Given the description of an element on the screen output the (x, y) to click on. 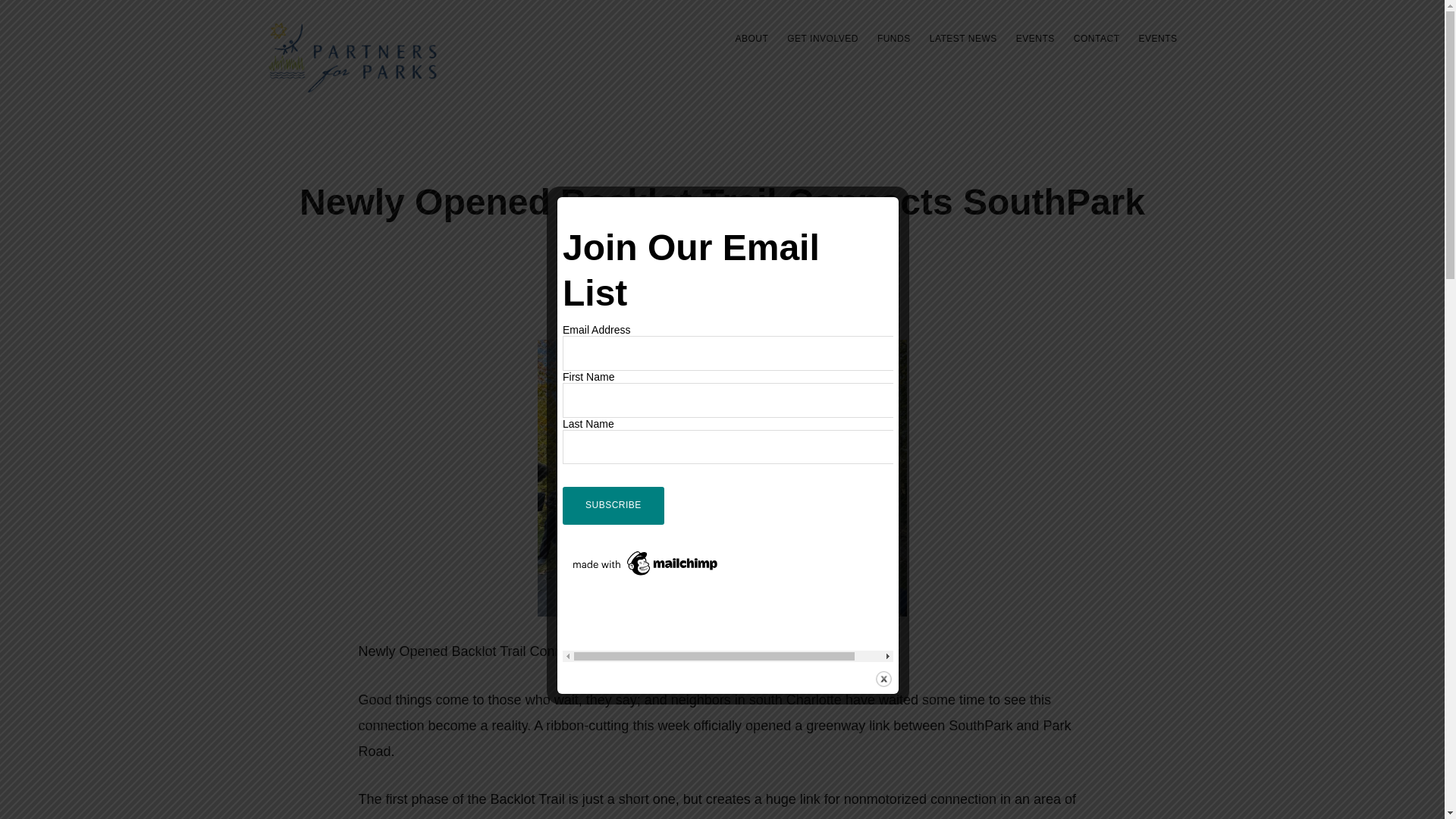
Subscribe (612, 505)
EVENTS (1035, 37)
Mailchimp - email marketing made easy and fun (645, 553)
FUNDS (893, 37)
CONTACT (1095, 37)
Close (883, 678)
Subscribe (612, 505)
EVENTS (1158, 37)
ABOUT (751, 37)
GET INVOLVED (822, 37)
LATEST NEWS (962, 37)
